Given the description of an element on the screen output the (x, y) to click on. 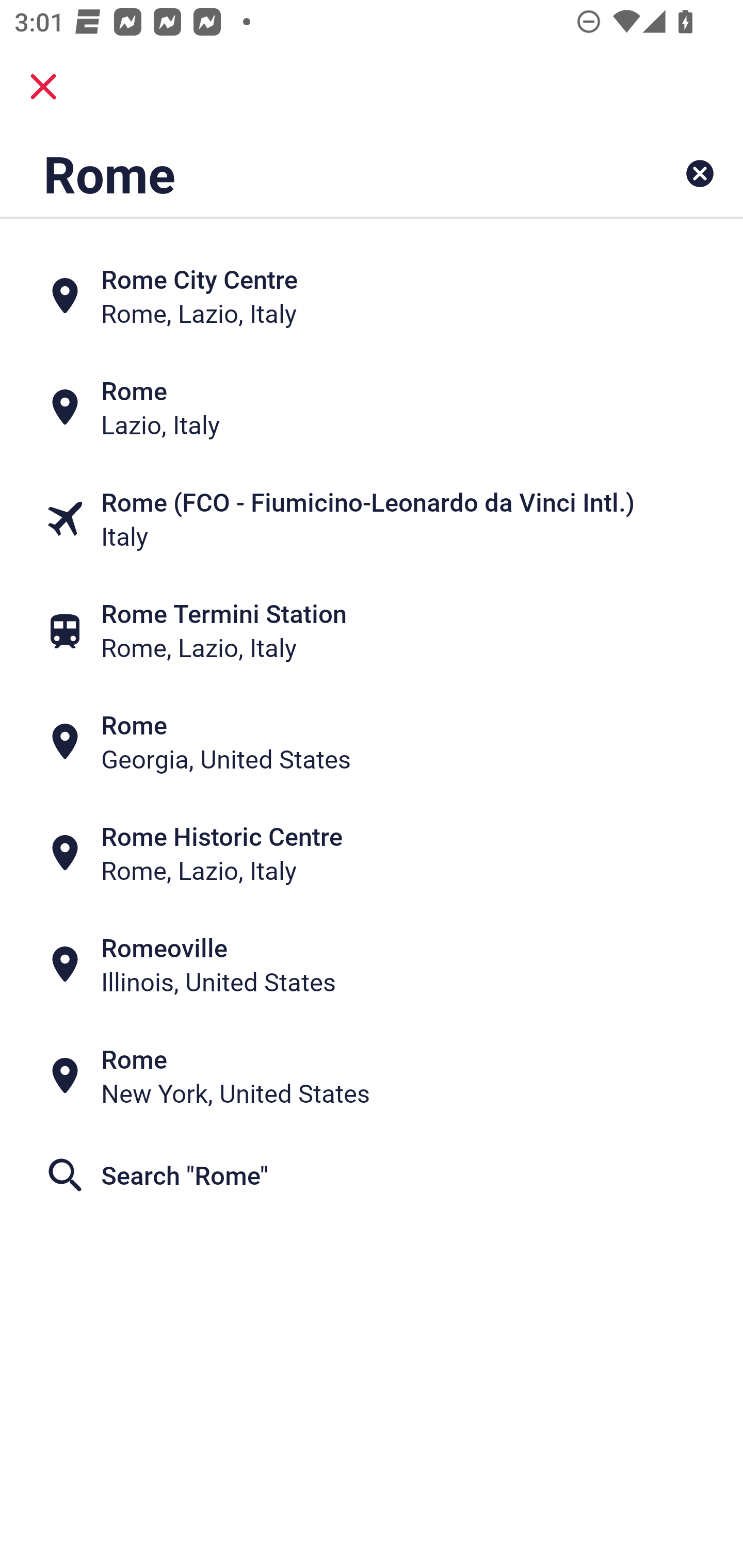
close. (43, 86)
Clear (699, 173)
Rome (306, 173)
Rome City Centre Rome, Lazio, Italy (371, 295)
Rome Lazio, Italy (371, 406)
Rome Termini Station Rome, Lazio, Italy (371, 629)
Rome Georgia, United States (371, 742)
Rome Historic Centre Rome, Lazio, Italy (371, 853)
Romeoville Illinois, United States (371, 964)
Rome New York, United States (371, 1076)
Search "Rome" (371, 1175)
